Given the description of an element on the screen output the (x, y) to click on. 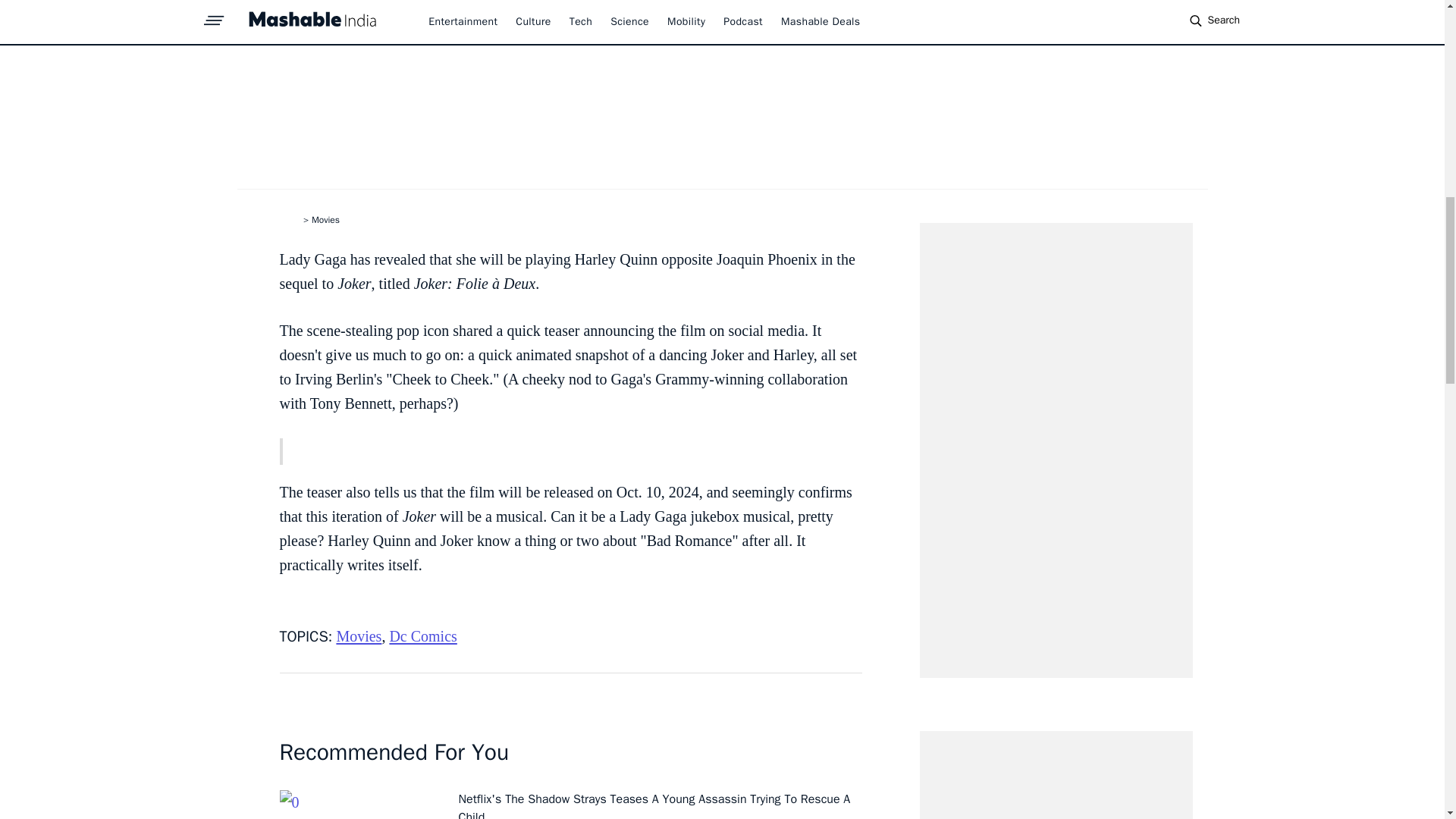
Dc Comics (422, 636)
Movies (358, 636)
